Given the description of an element on the screen output the (x, y) to click on. 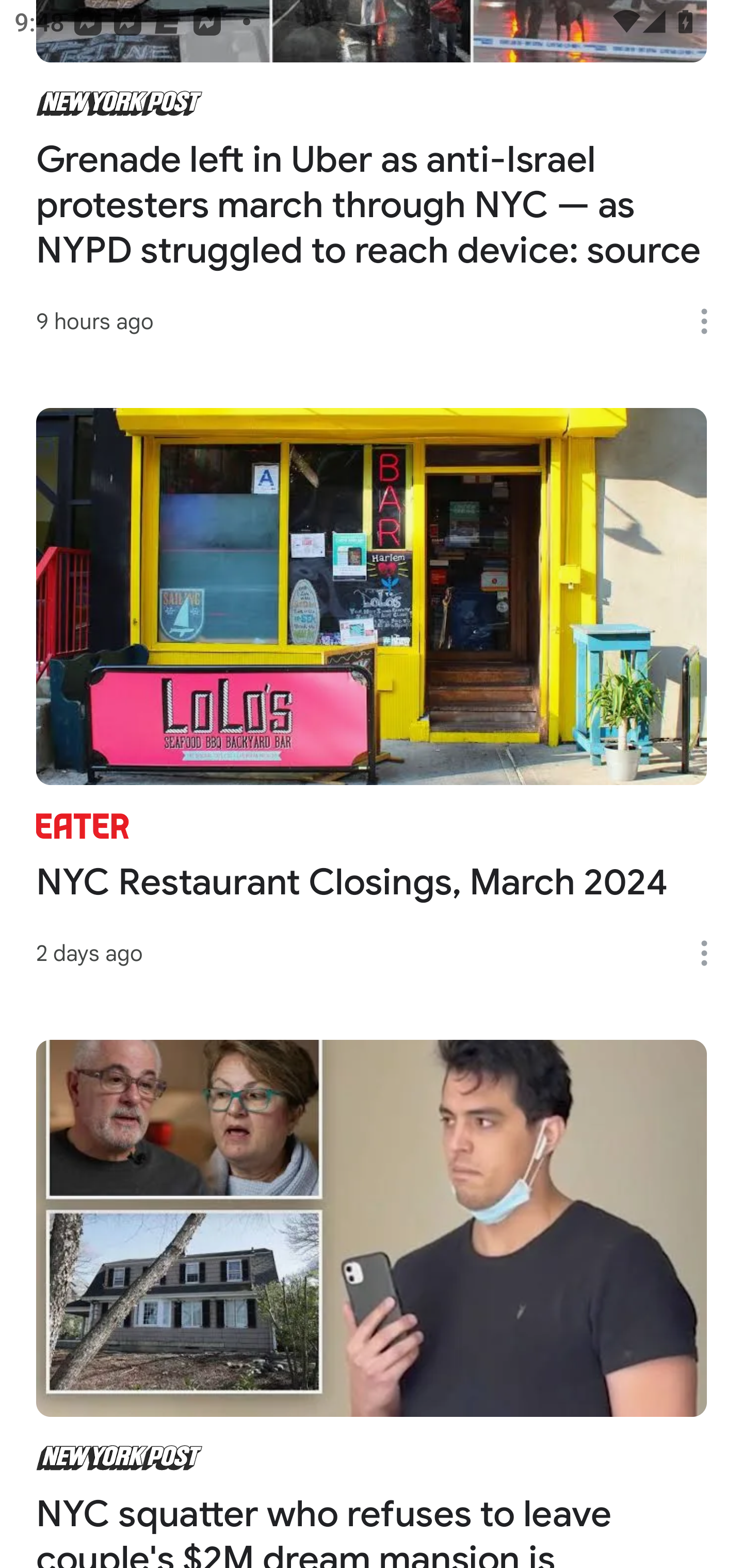
More options (711, 321)
More options (711, 953)
